Given the description of an element on the screen output the (x, y) to click on. 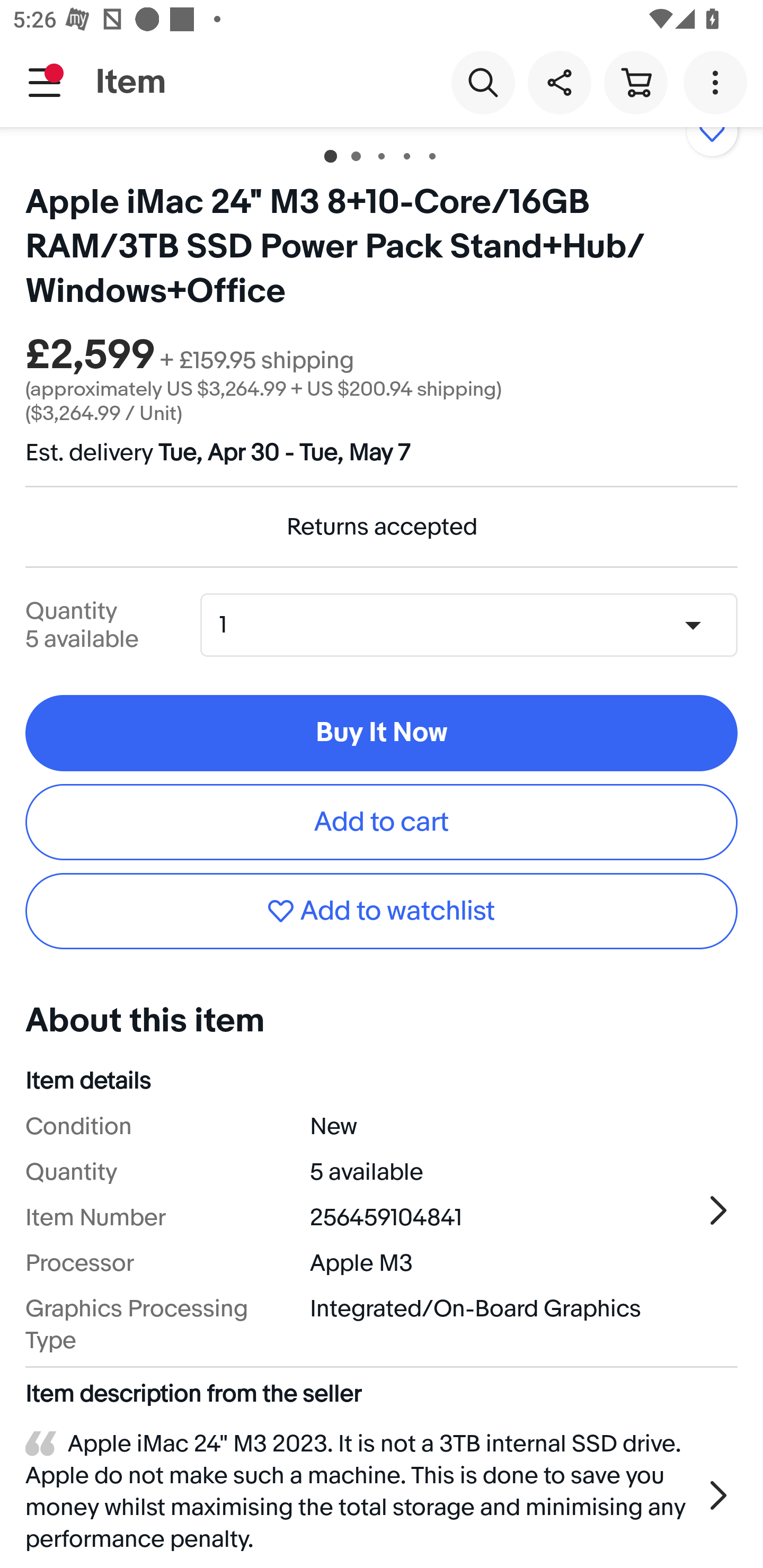
Main navigation, notification is pending, open (44, 82)
Search (482, 81)
Share this item (559, 81)
Cart button shopping cart (635, 81)
More options (718, 81)
Quantity,1,5 available 1 (474, 624)
Buy It Now (381, 732)
Add to cart (381, 822)
Add to watchlist (381, 910)
